Given the description of an element on the screen output the (x, y) to click on. 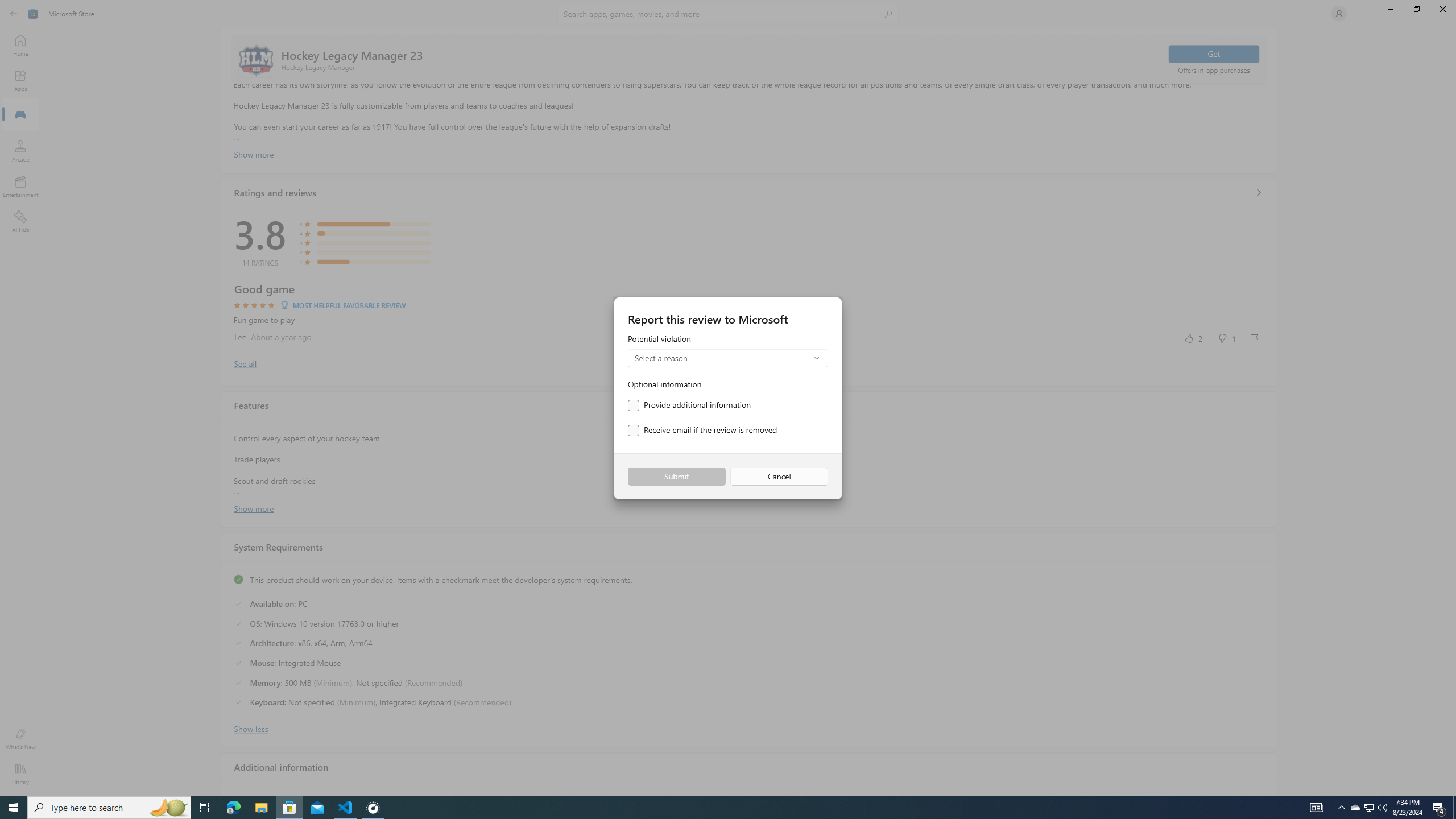
Report review (1253, 338)
